Given the description of an element on the screen output the (x, y) to click on. 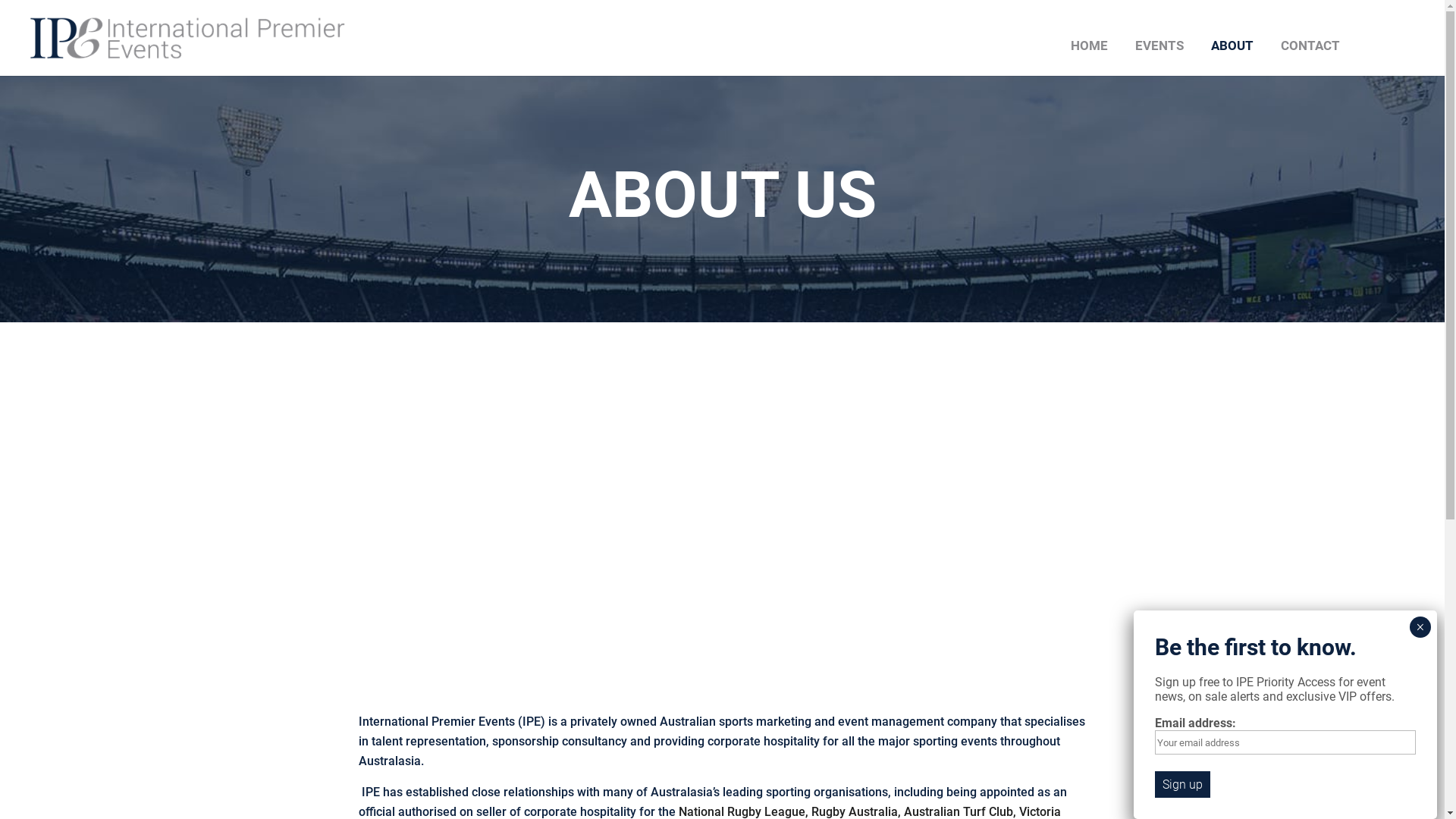
Sign up Element type: text (1182, 784)
IPE Brand Video Element type: hover (721, 488)
CONTACT Element type: text (1306, 57)
HOME Element type: text (1085, 57)
ABOUT Element type: text (1228, 57)
EVENTS Element type: text (1155, 57)
